Given the description of an element on the screen output the (x, y) to click on. 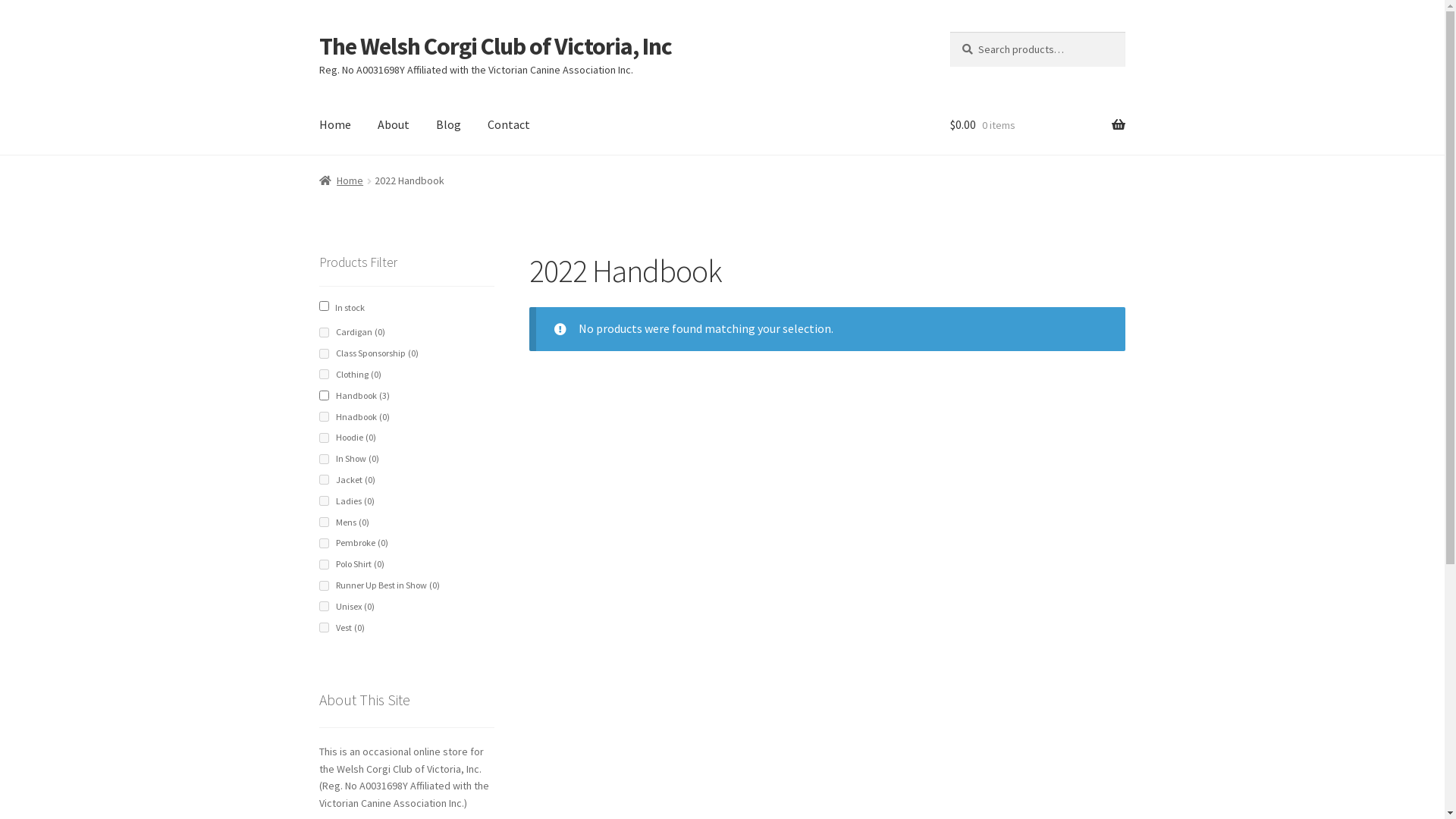
Skip to navigation Element type: text (318, 31)
Blog Element type: text (448, 124)
About Element type: text (393, 124)
Home Element type: text (335, 124)
Home Element type: text (341, 180)
Search Element type: text (949, 31)
The Welsh Corgi Club of Victoria, Inc Element type: text (495, 46)
Contact Element type: text (508, 124)
$0.00 0 items Element type: text (1037, 124)
